Given the description of an element on the screen output the (x, y) to click on. 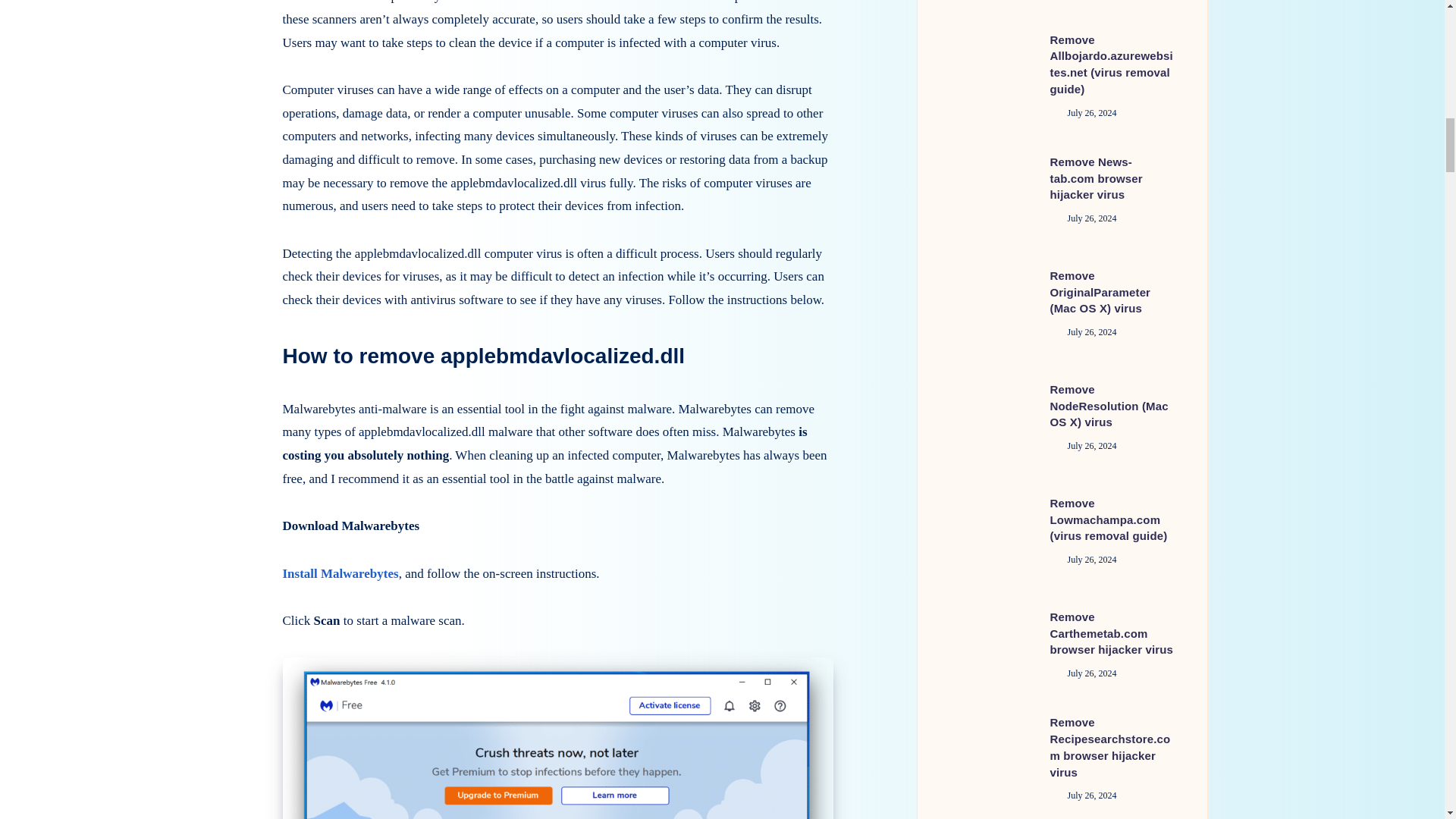
Download Malwarebytes (350, 525)
How to remove applebmdavlocalized.dll 25 (557, 738)
Install Malwarebytes (339, 573)
